Given the description of an element on the screen output the (x, y) to click on. 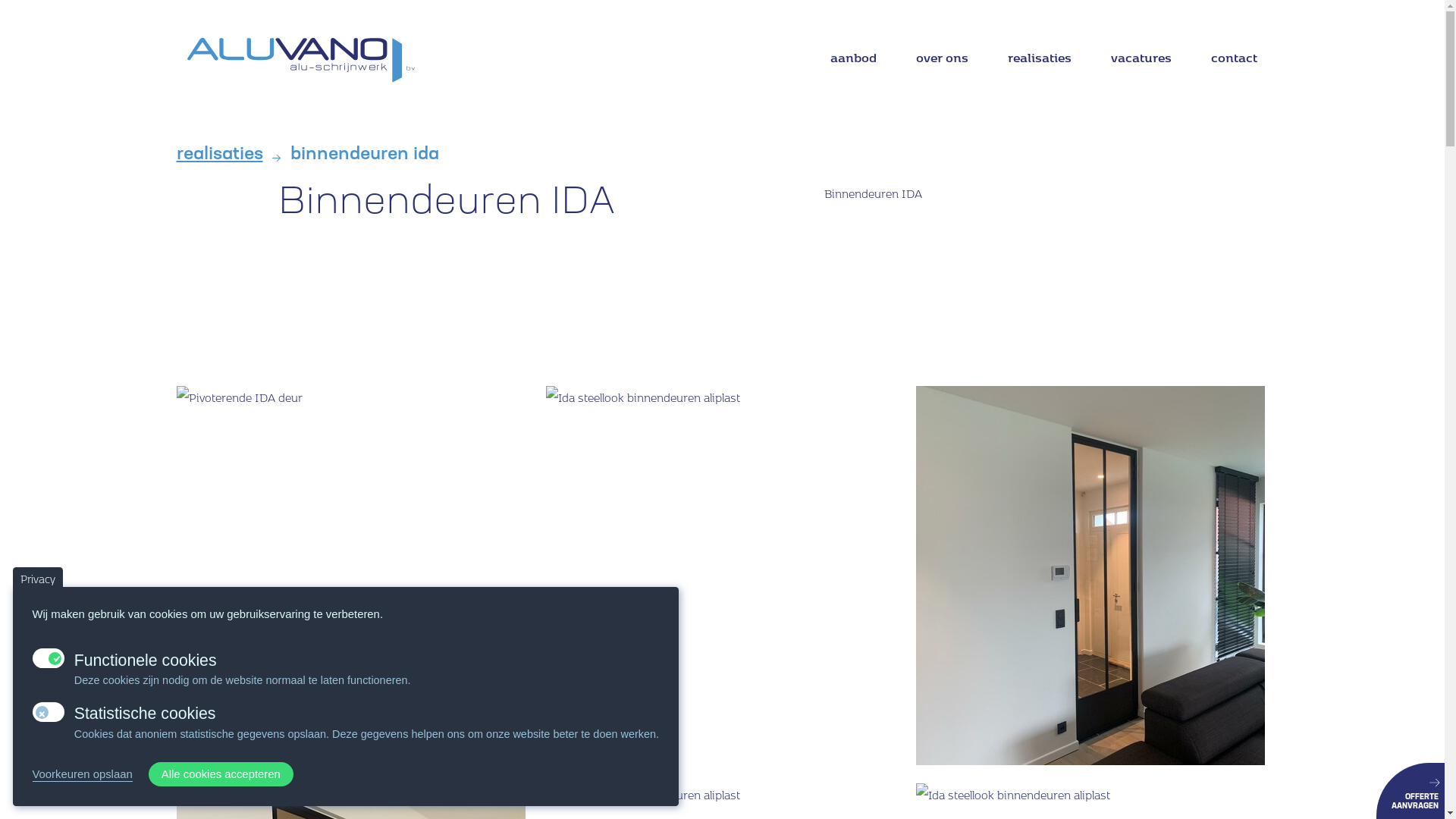
over ons Element type: text (942, 61)
Privacy Element type: text (37, 576)
realisaties Element type: text (218, 155)
vacatures Element type: text (1141, 61)
Overslaan en naar de inhoud gaan Element type: text (0, 0)
Alle cookies accepteren Element type: text (220, 774)
contact Element type: text (1234, 61)
realisaties Element type: text (1039, 61)
aanbod Element type: text (853, 61)
Voorkeuren opslaan Element type: text (81, 774)
